Given the description of an element on the screen output the (x, y) to click on. 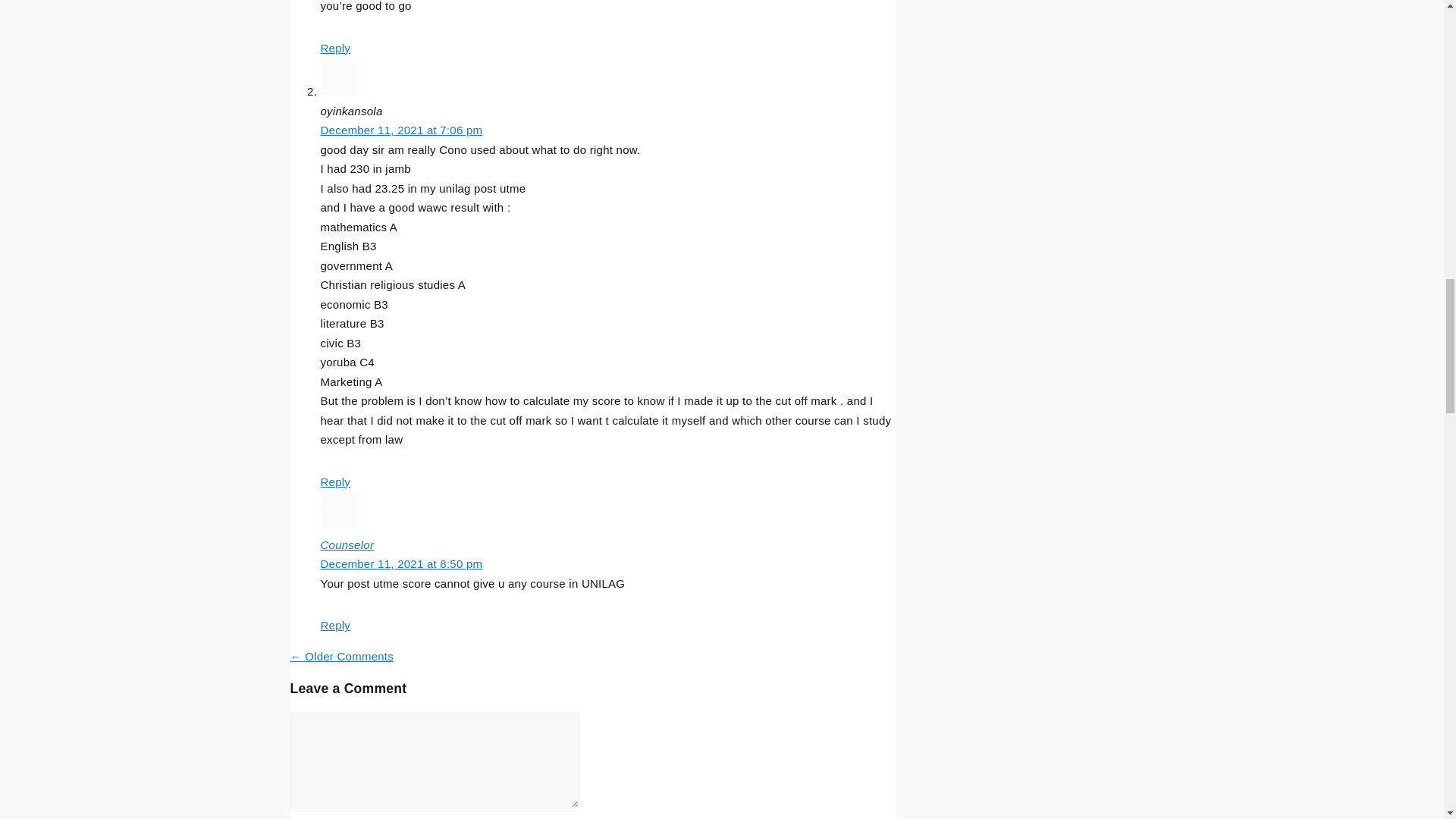
December 11, 2021 at 7:06 pm (400, 129)
December 11, 2021 at 8:50 pm (400, 563)
Counselor (347, 544)
Reply (335, 625)
Reply (335, 481)
Reply (335, 47)
